Given the description of an element on the screen output the (x, y) to click on. 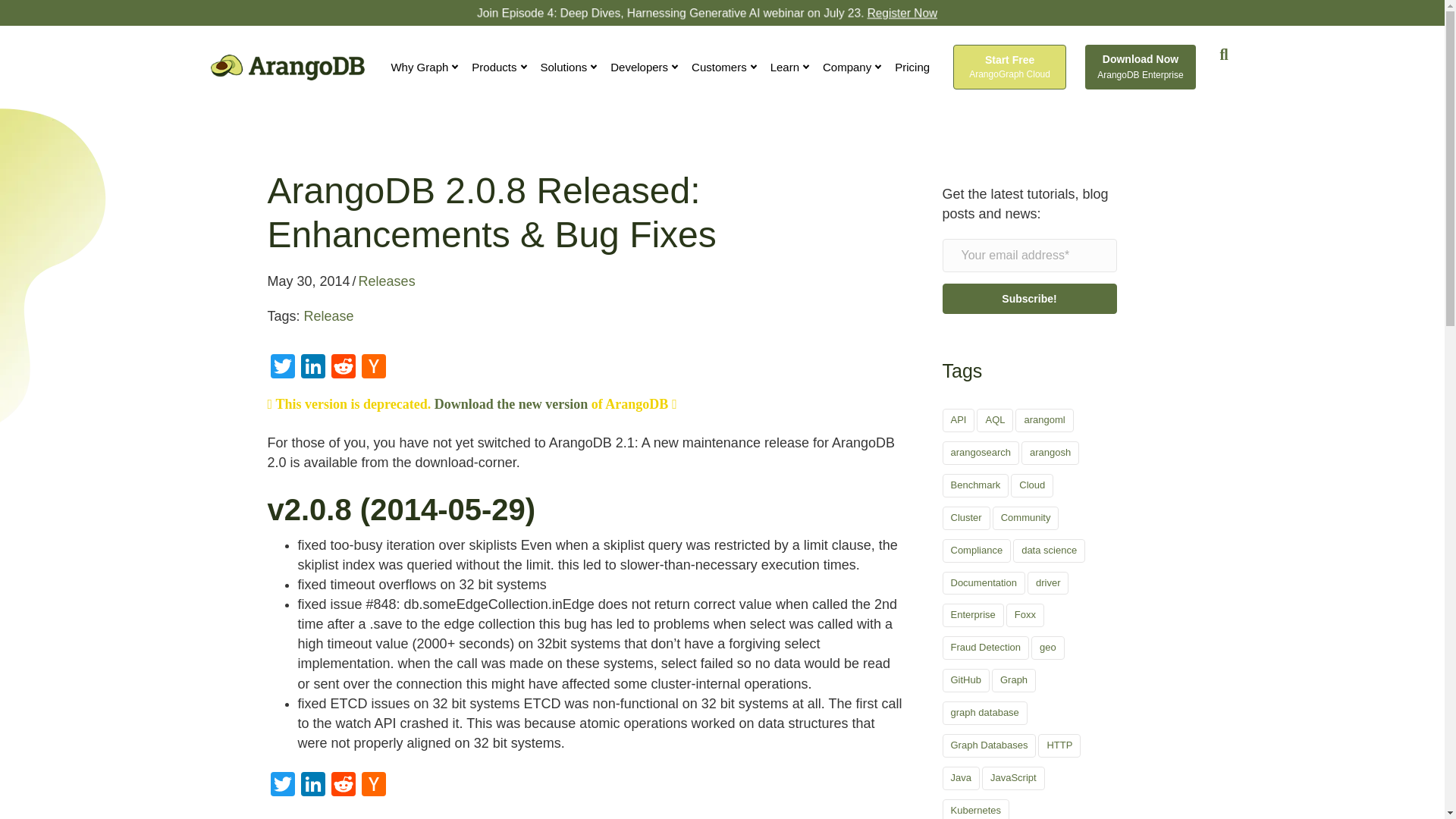
Solutions (569, 66)
LinkedIn (312, 367)
simple-menu-two-column (723, 66)
Reddit (342, 786)
Reddit (342, 367)
home shape (53, 265)
Products (498, 66)
Hacker News (373, 367)
Hacker News (373, 786)
logo (288, 67)
LinkedIn (312, 786)
Twitter (281, 367)
Twitter (281, 786)
Developers (644, 66)
Why Graph (424, 66)
